Given the description of an element on the screen output the (x, y) to click on. 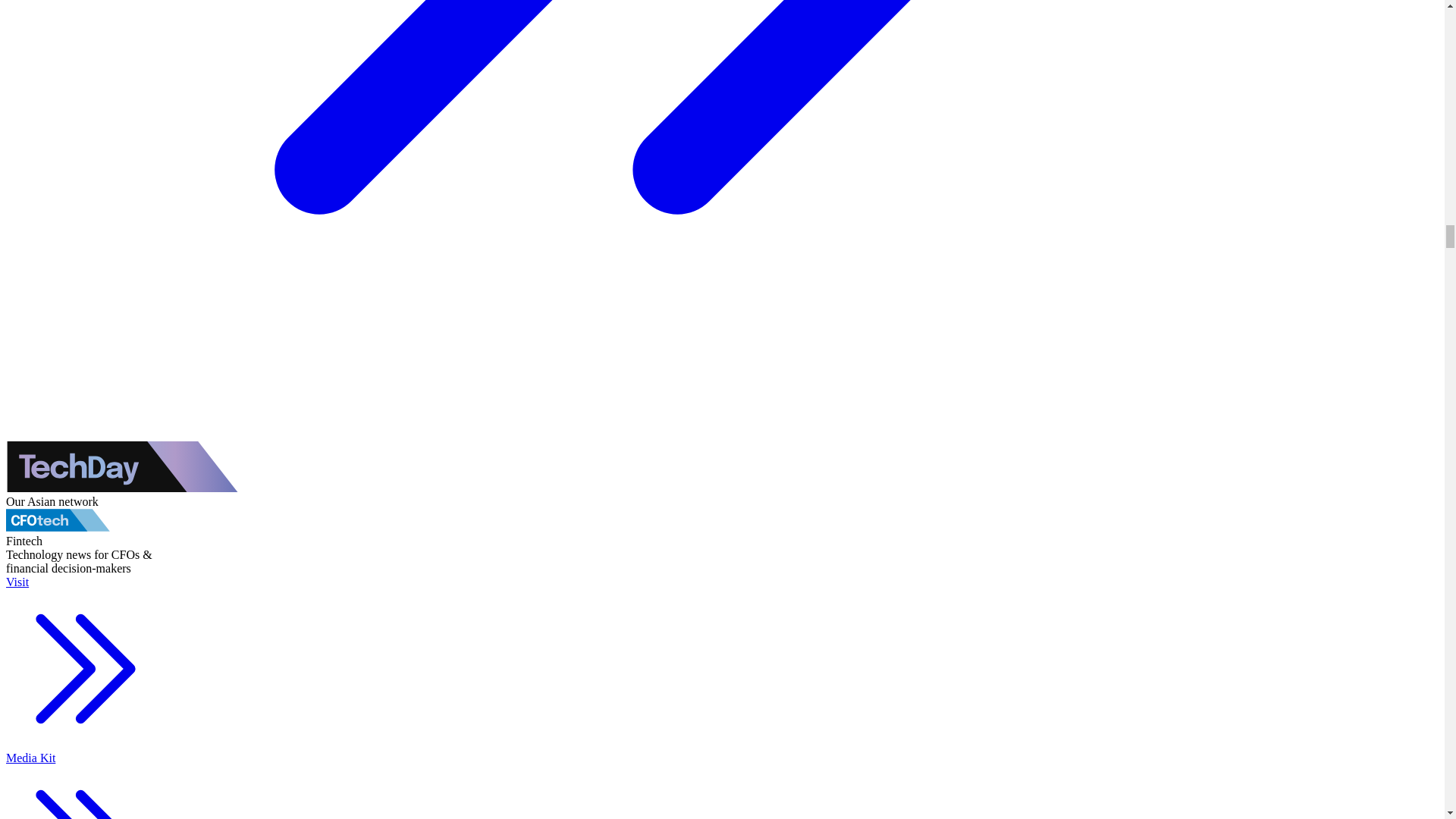
Visit (85, 663)
Media Kit (85, 785)
